Given the description of an element on the screen output the (x, y) to click on. 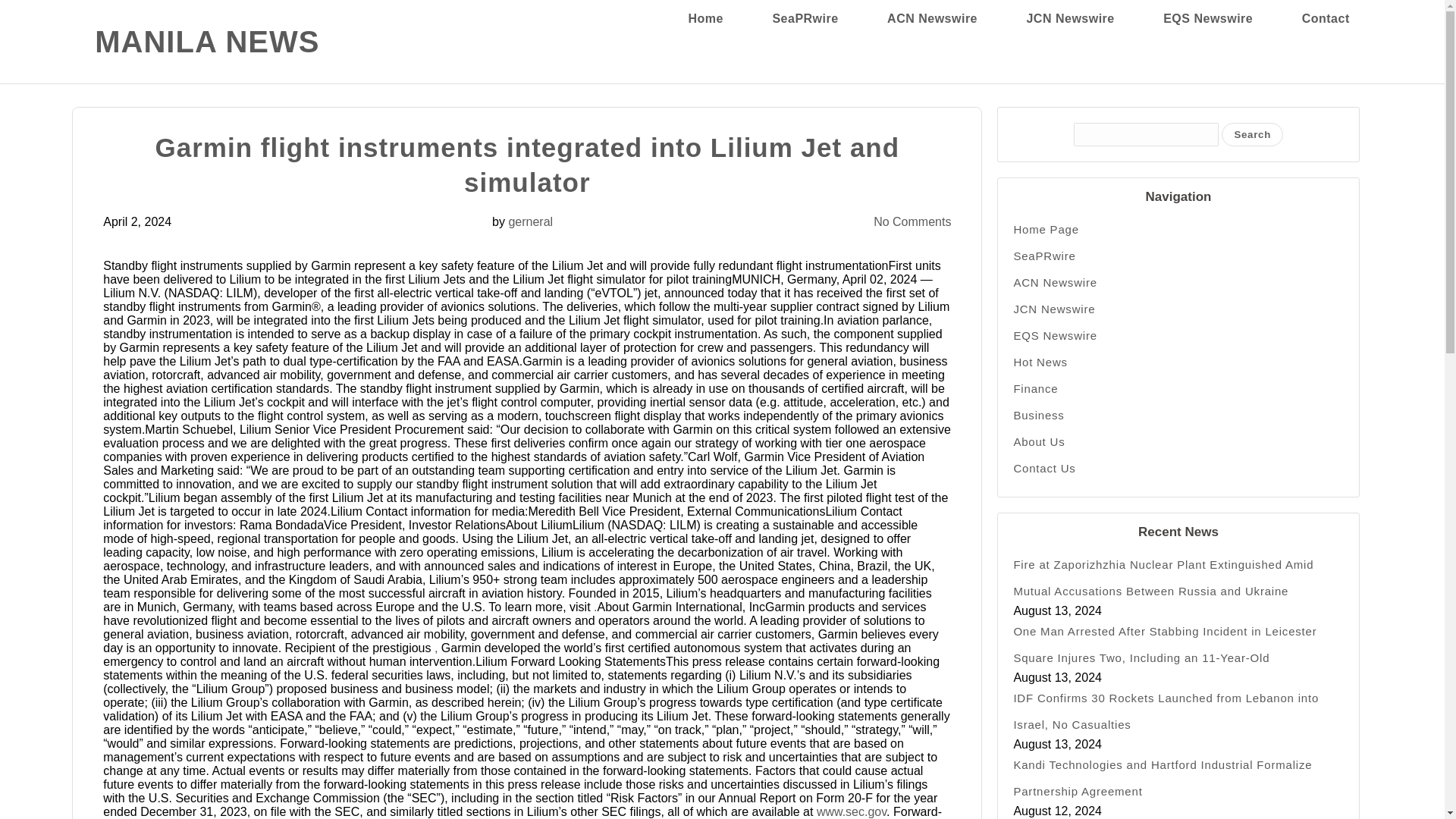
Home Page (1177, 229)
EQS Newswire (1177, 335)
Contact Us (1177, 468)
ACN Newswire (931, 18)
gerneral (530, 221)
JCN Newswire (1069, 18)
Finance (1177, 388)
Home (705, 18)
Hot News (1177, 361)
